Given the description of an element on the screen output the (x, y) to click on. 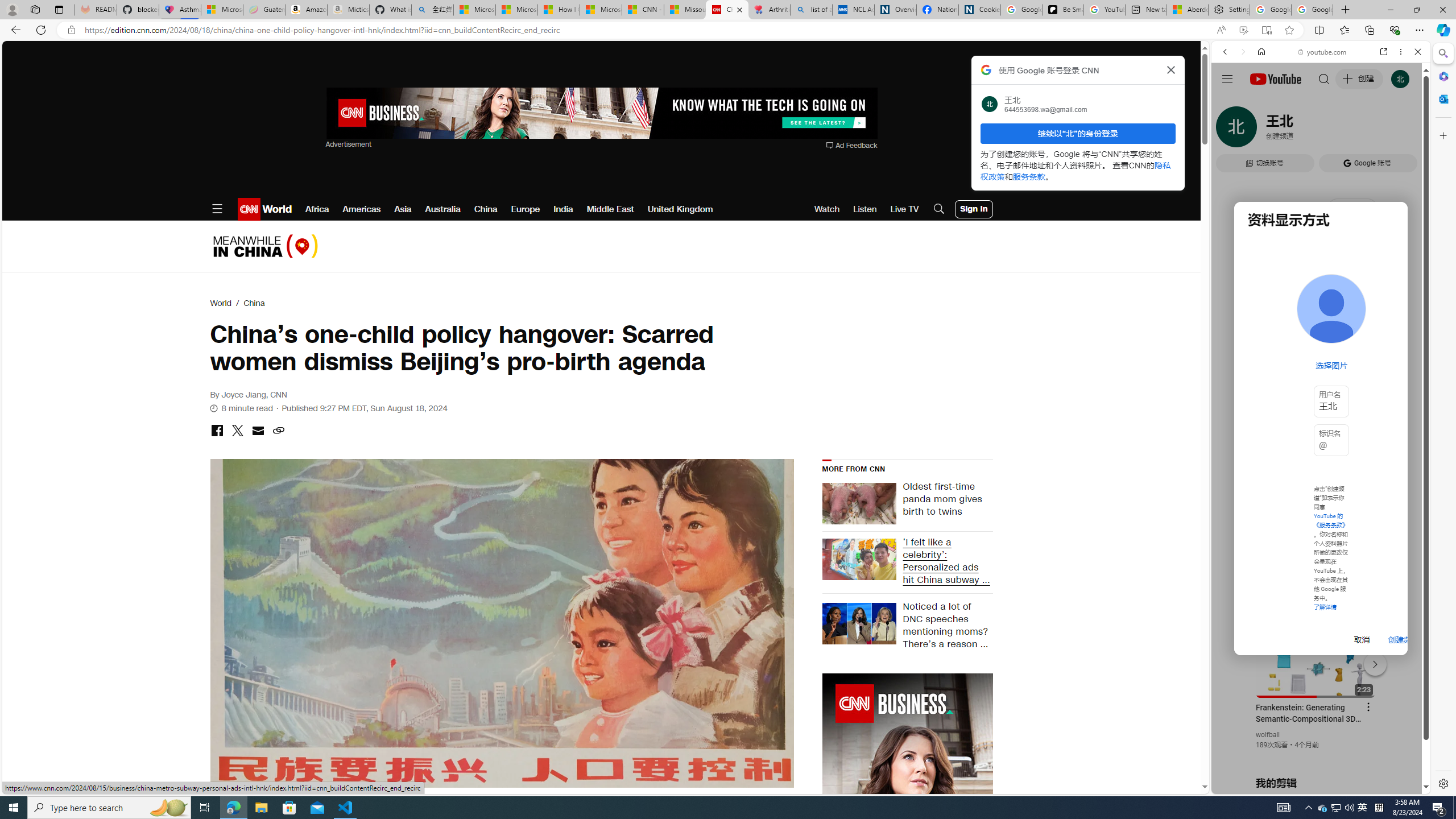
Be Smart | creating Science videos | Patreon (1062, 9)
CNN - MSN (642, 9)
US[ju] (1249, 785)
Arthritis: Ask Health Professionals (769, 9)
Middle East (610, 209)
